Given the description of an element on the screen output the (x, y) to click on. 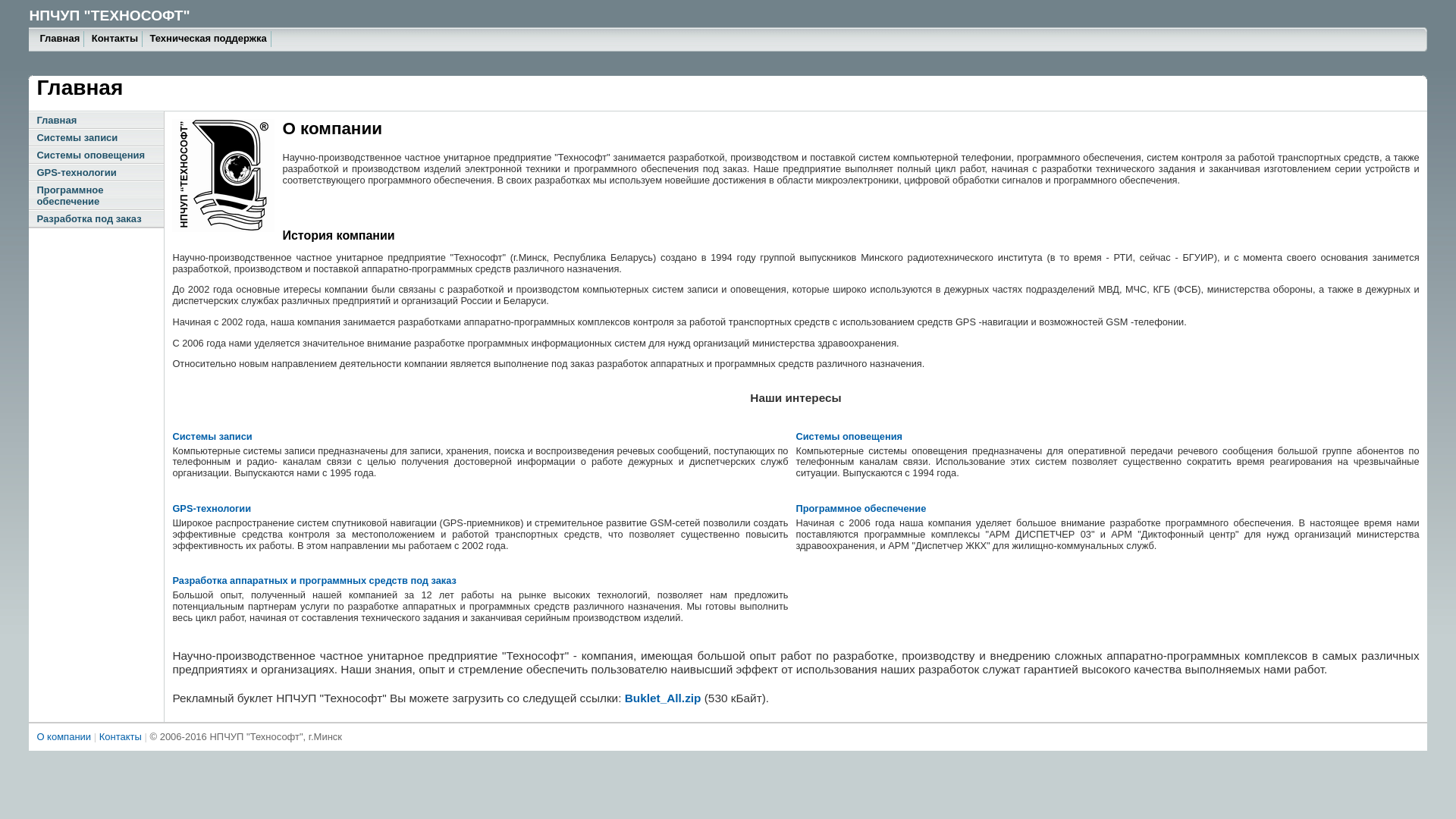
Buklet_All.zip Element type: text (664, 697)
